Given the description of an element on the screen output the (x, y) to click on. 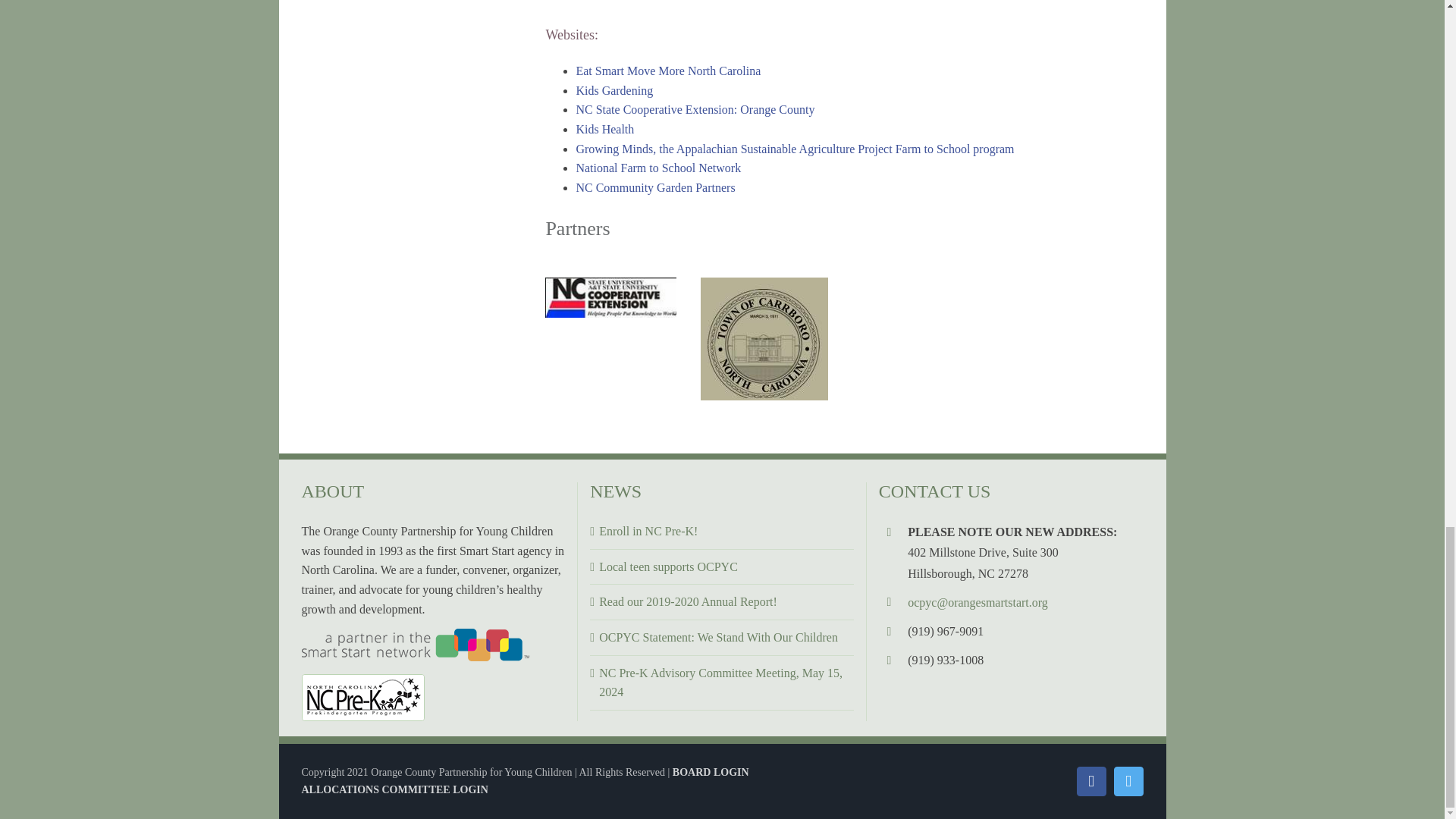
nc-pre-k-logo (362, 697)
